Given the description of an element on the screen output the (x, y) to click on. 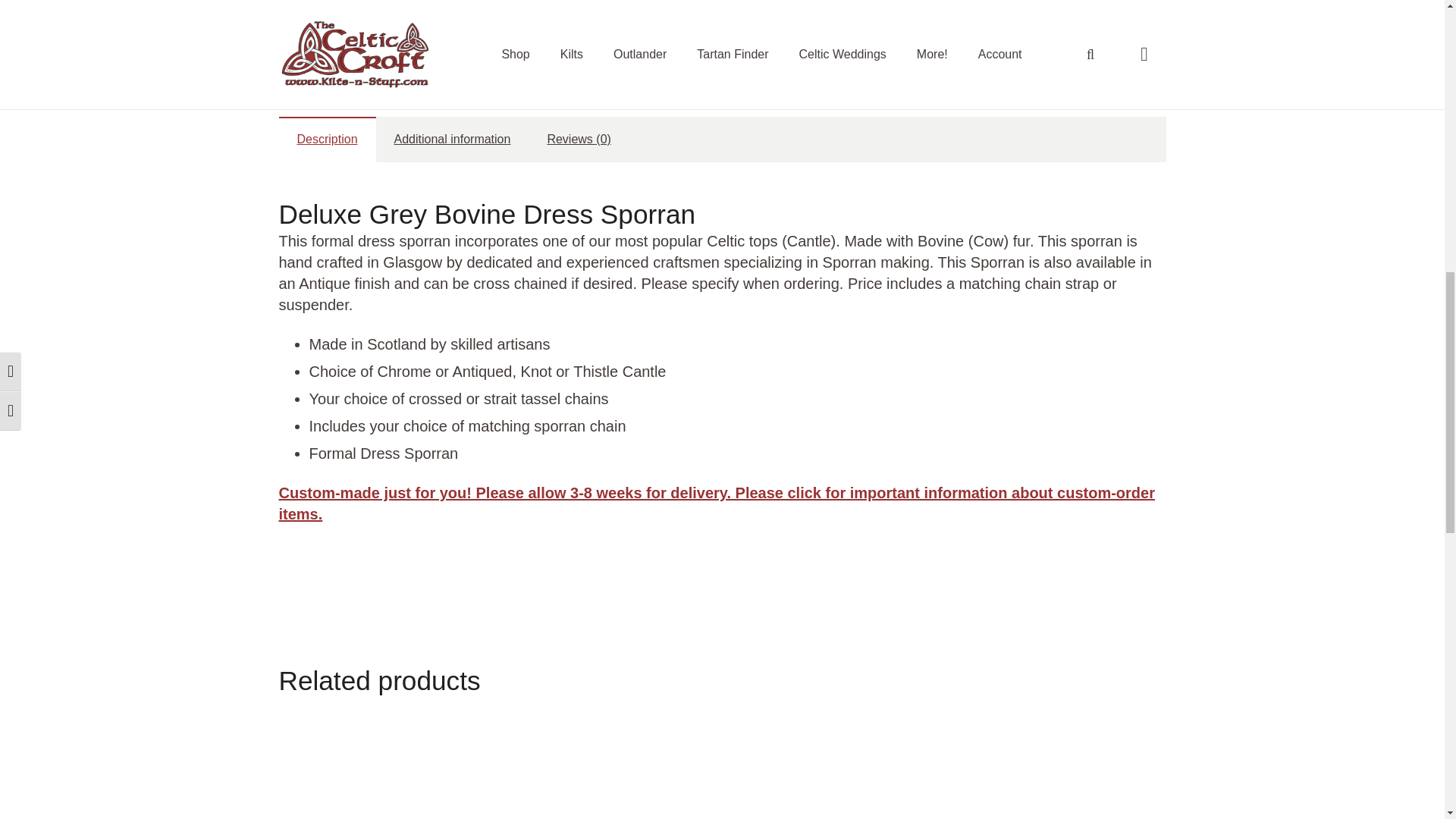
1 (693, 3)
